Given the description of an element on the screen output the (x, y) to click on. 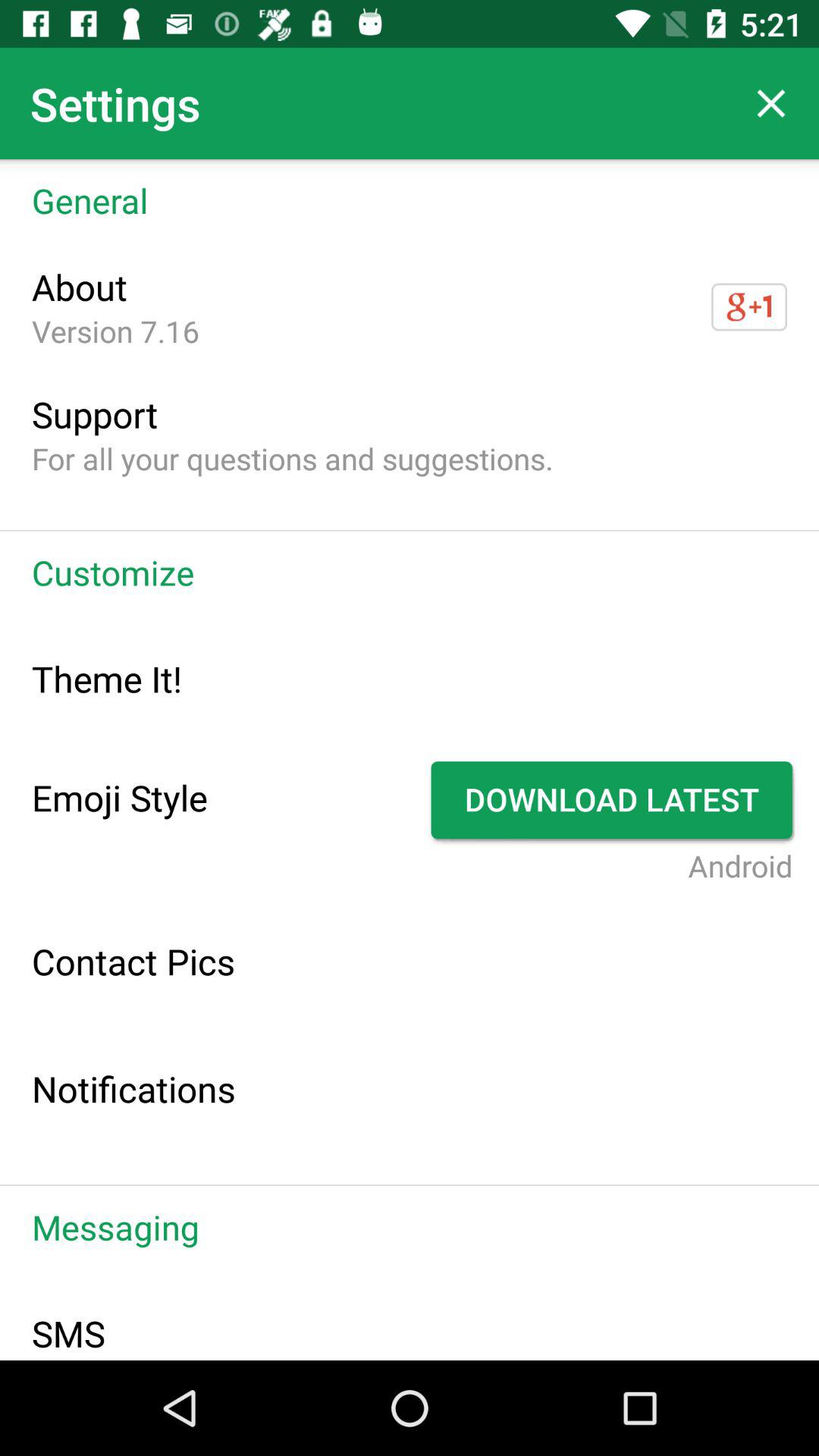
turn on the icon next to the settings (771, 103)
